Given the description of an element on the screen output the (x, y) to click on. 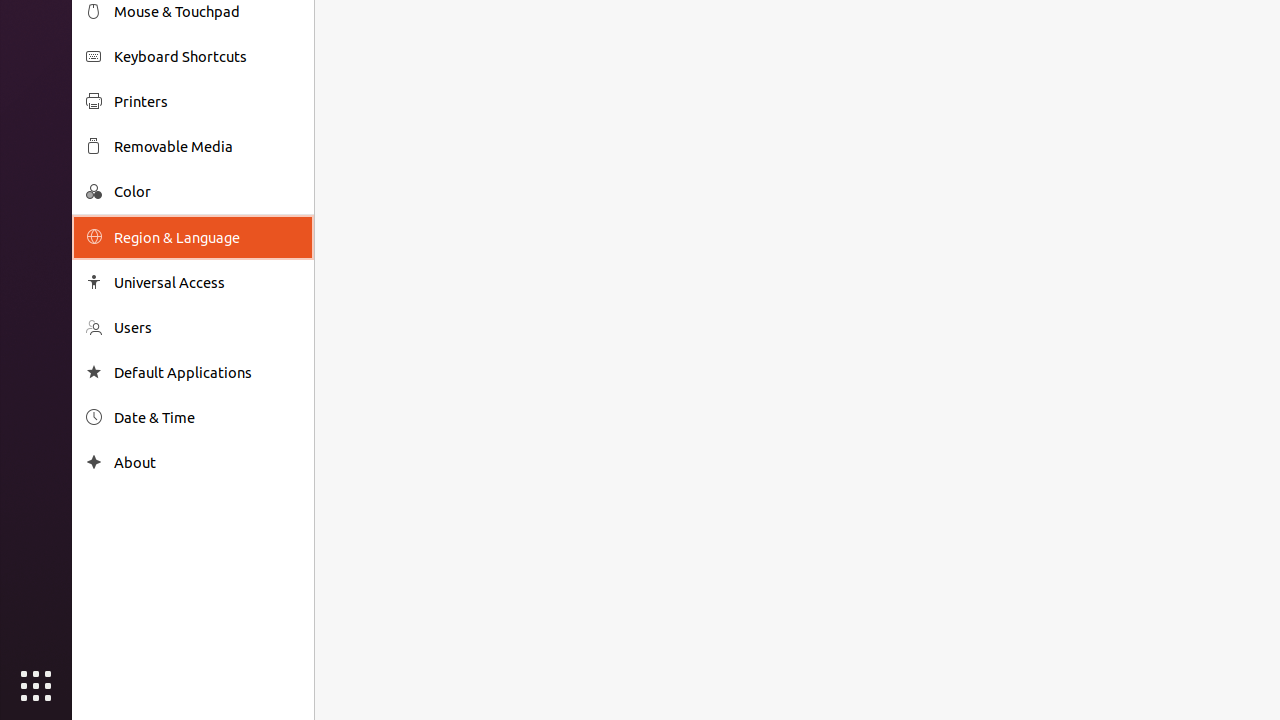
Removable Media Element type: label (207, 146)
Keyboard Shortcuts Element type: label (207, 56)
About Element type: icon (94, 462)
Printers Element type: label (207, 101)
